Given the description of an element on the screen output the (x, y) to click on. 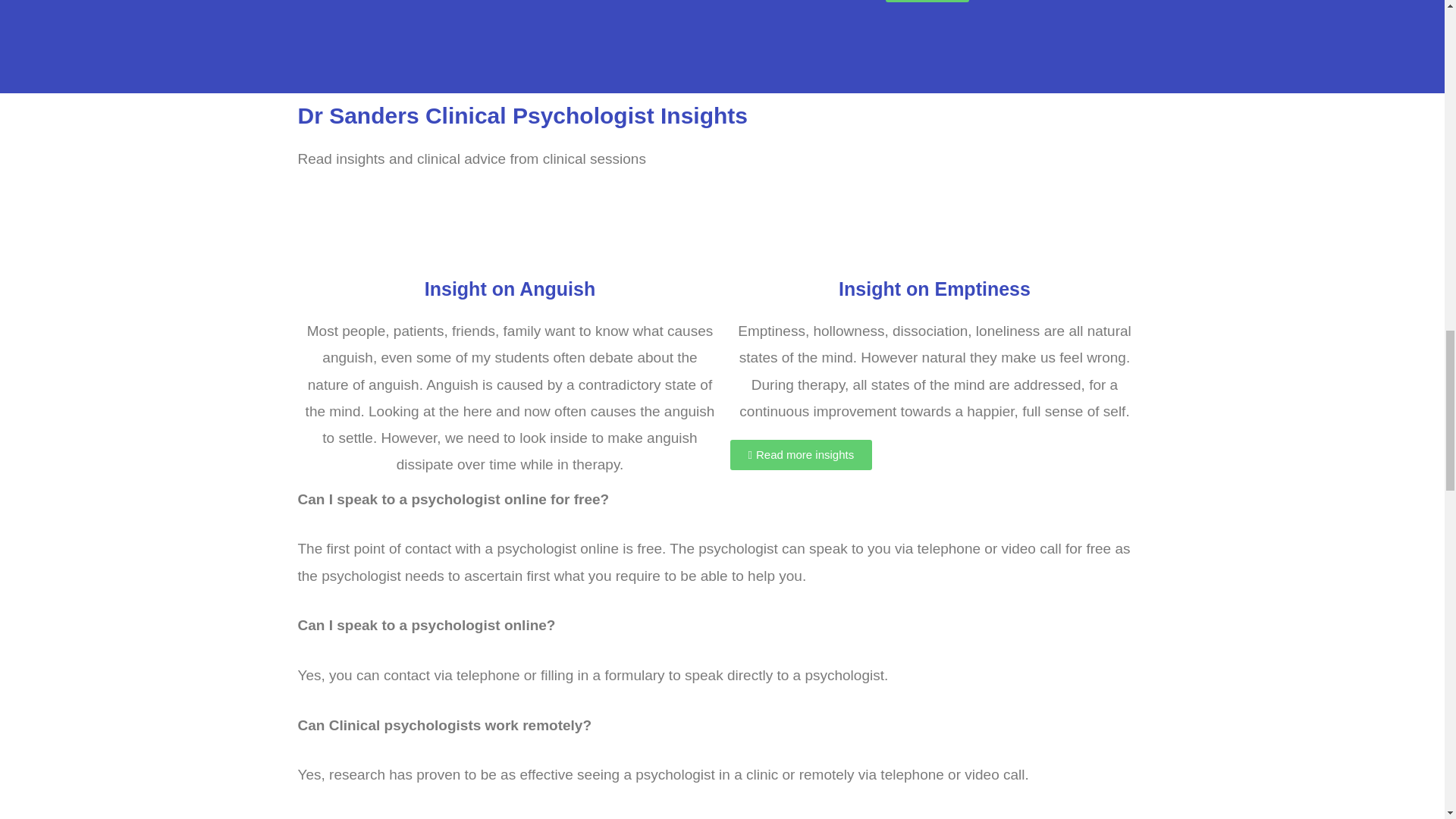
More info (927, 1)
Read more insights (800, 454)
